Given the description of an element on the screen output the (x, y) to click on. 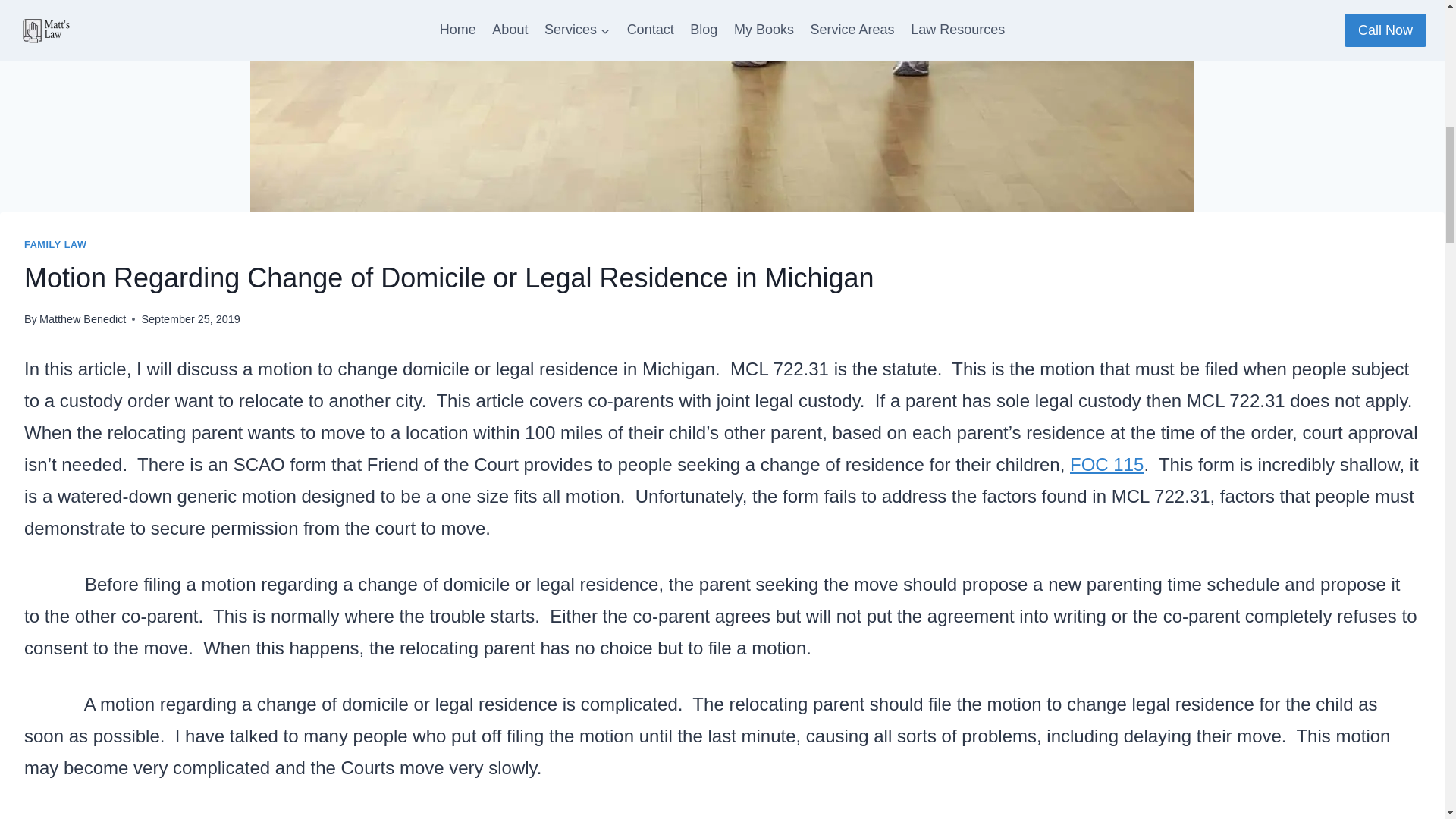
FAMILY LAW (55, 244)
Matthew Benedict (82, 318)
FOC 115 (1106, 464)
